Given the description of an element on the screen output the (x, y) to click on. 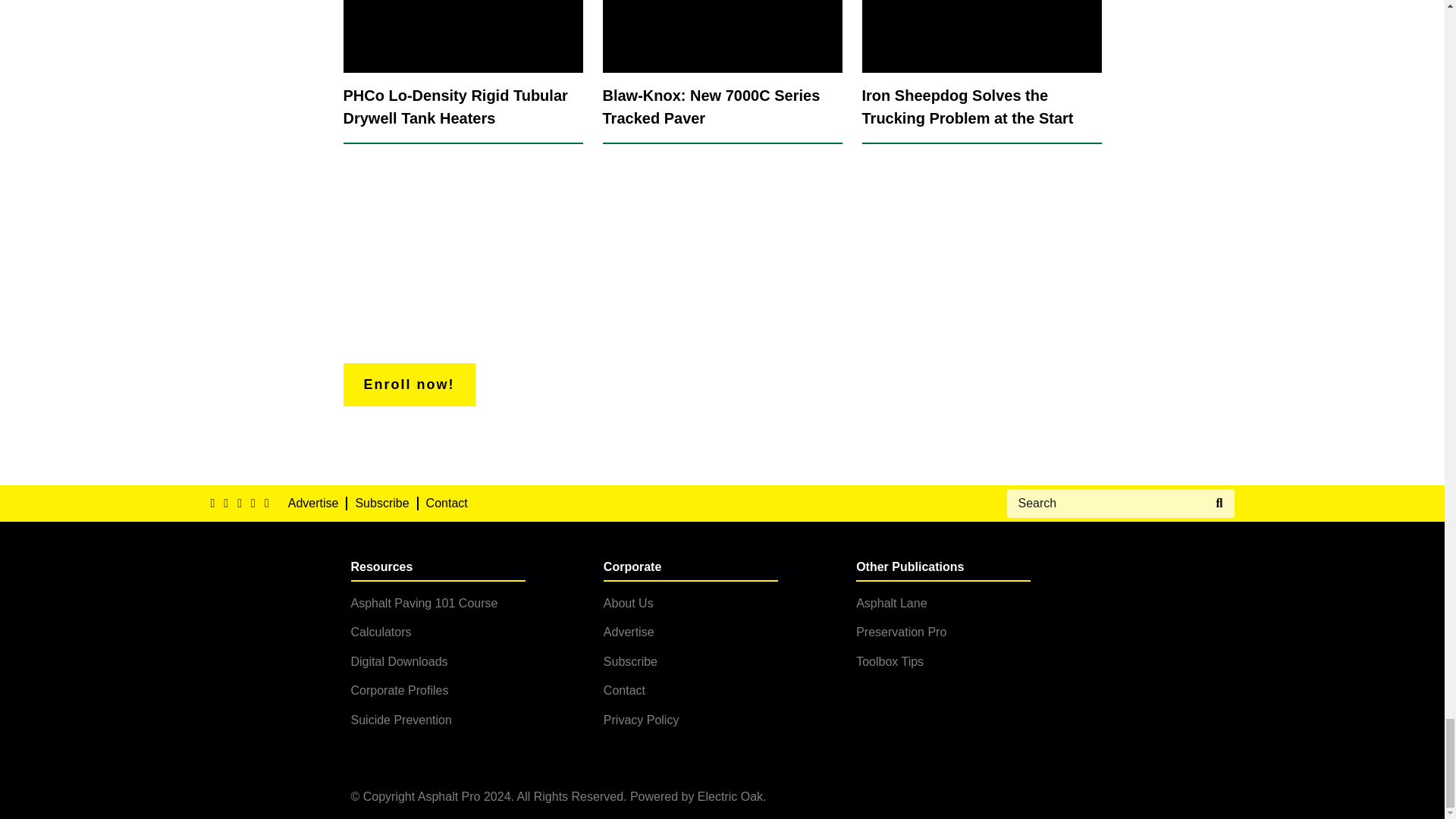
PHCo Lo-Density Rigid Tubular Drywell Tank Heaters (462, 72)
Blaw-Knox: New 7000C Series Tracked Paver (721, 72)
Iron Sheepdog Solves the Trucking Problem at the Start (980, 72)
Enroll now! (408, 384)
